Given the description of an element on the screen output the (x, y) to click on. 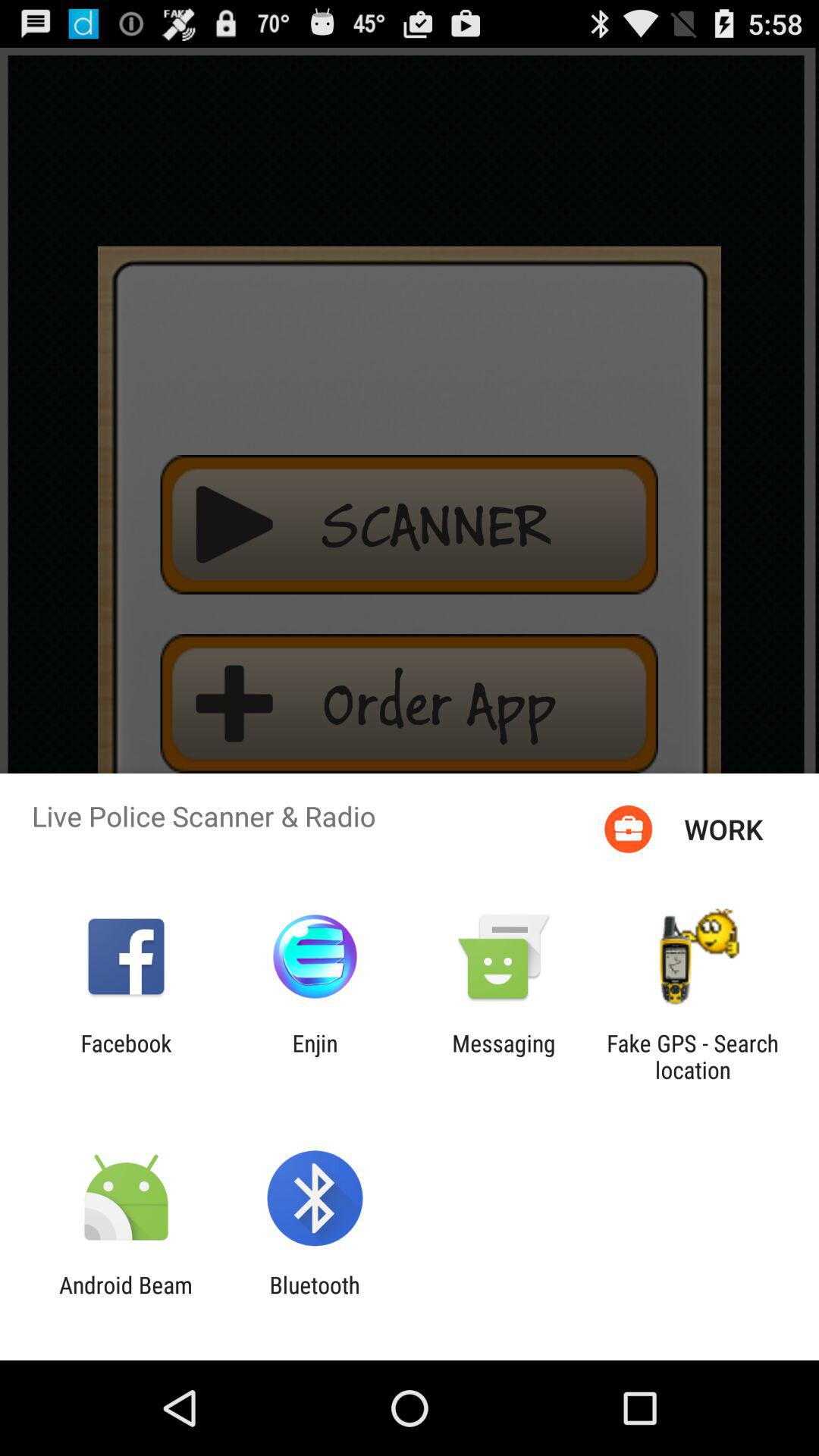
open item at the bottom right corner (692, 1056)
